Given the description of an element on the screen output the (x, y) to click on. 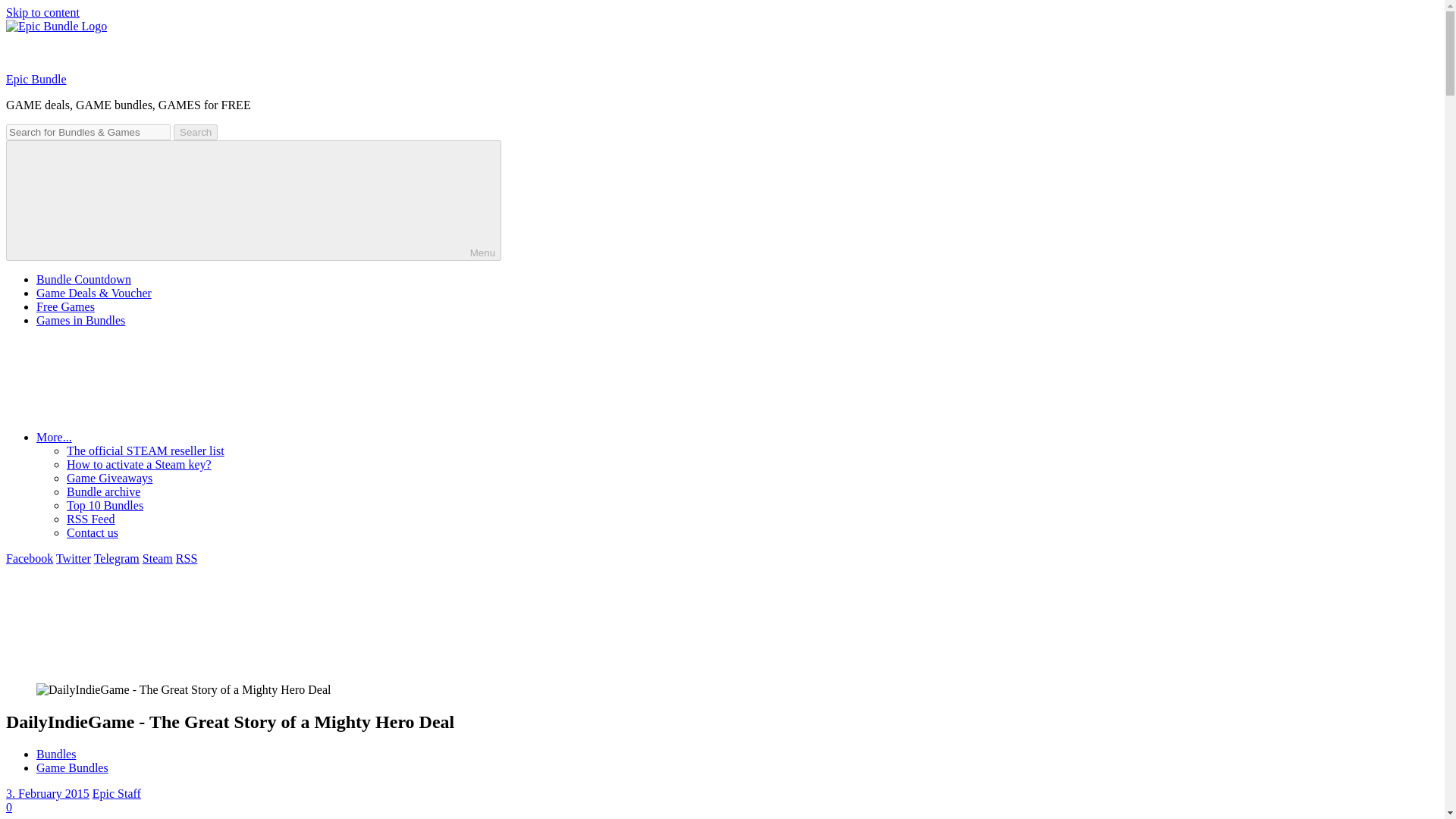
Bundles (55, 753)
Epic Bundle (35, 78)
More... (167, 436)
Menu (252, 200)
Facebook (28, 558)
Games in Bundles (80, 319)
Skip to content (42, 11)
Telegram (116, 558)
Game Bundles (71, 767)
Epic Staff (117, 793)
